Given the description of an element on the screen output the (x, y) to click on. 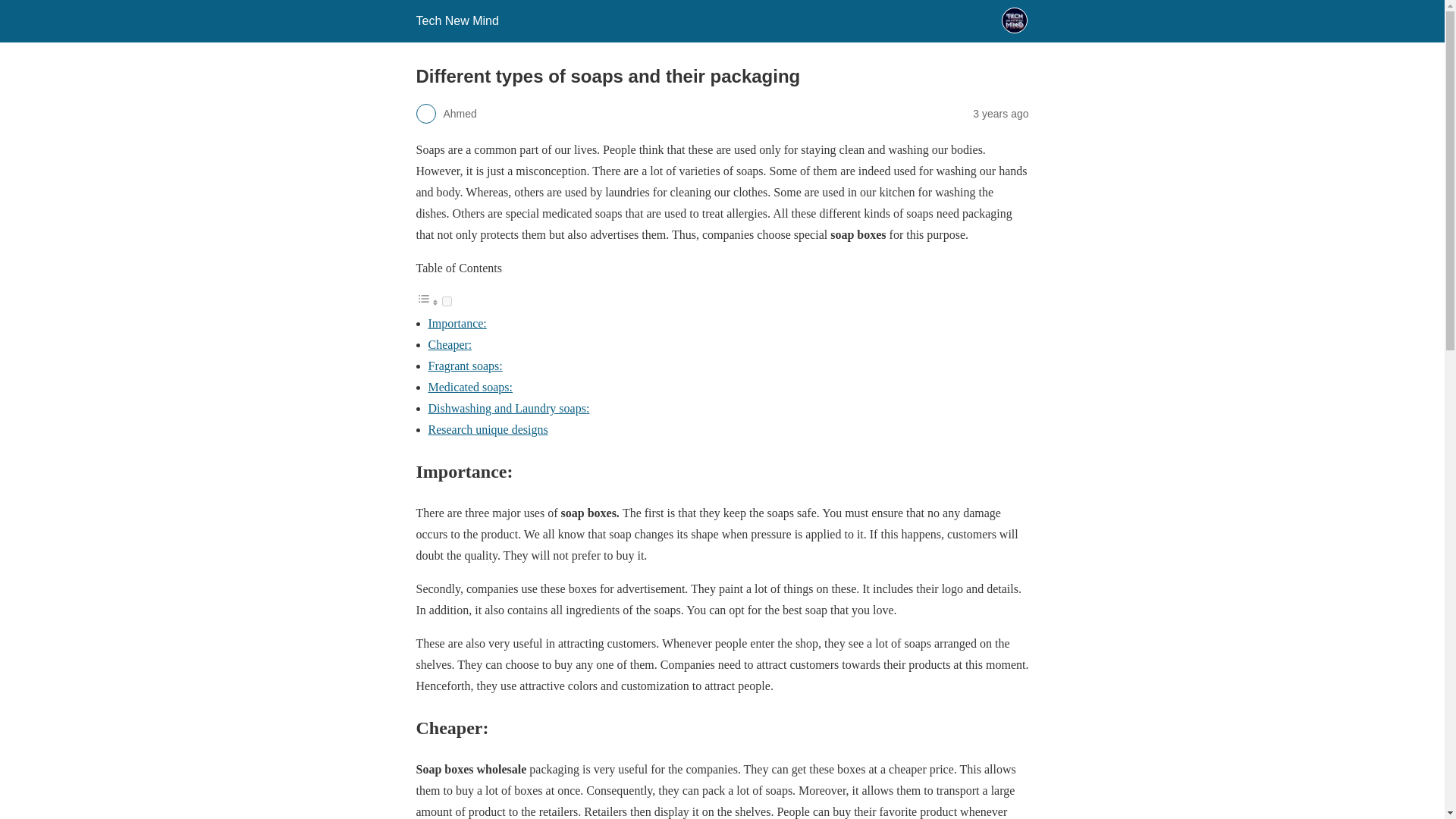
Medicated soaps: (470, 386)
Fragrant soaps: (465, 365)
Cheaper: (449, 344)
Medicated soaps: (470, 386)
Dishwashing and Laundry soaps: (508, 408)
on (446, 301)
Cheaper: (449, 344)
Importance: (457, 323)
Research unique designs (487, 429)
Tech New Mind (455, 20)
Research unique designs (487, 429)
Importance: (457, 323)
Fragrant soaps: (465, 365)
Dishwashing and Laundry soaps: (508, 408)
